Given the description of an element on the screen output the (x, y) to click on. 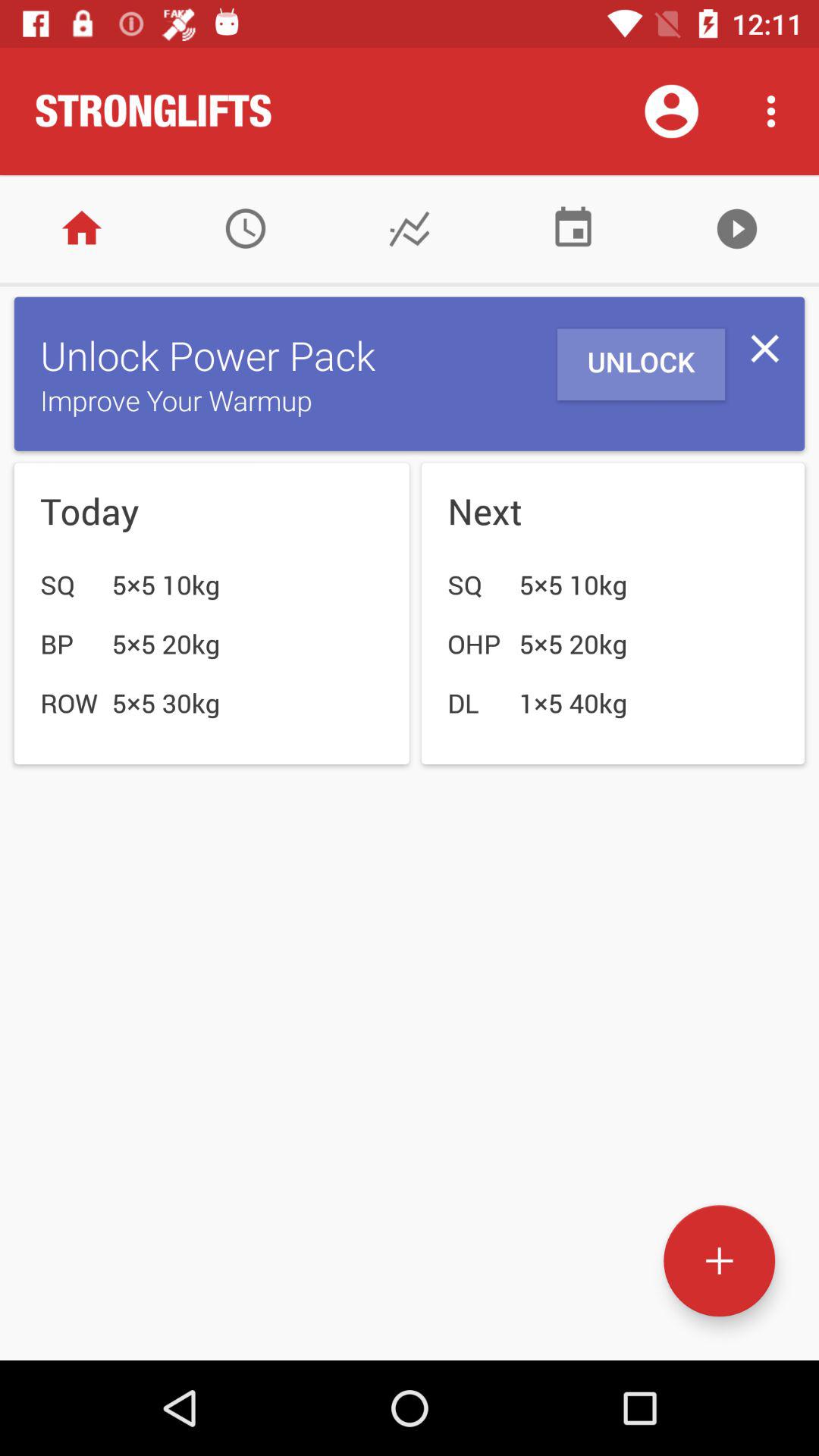
go to home (81, 228)
